Given the description of an element on the screen output the (x, y) to click on. 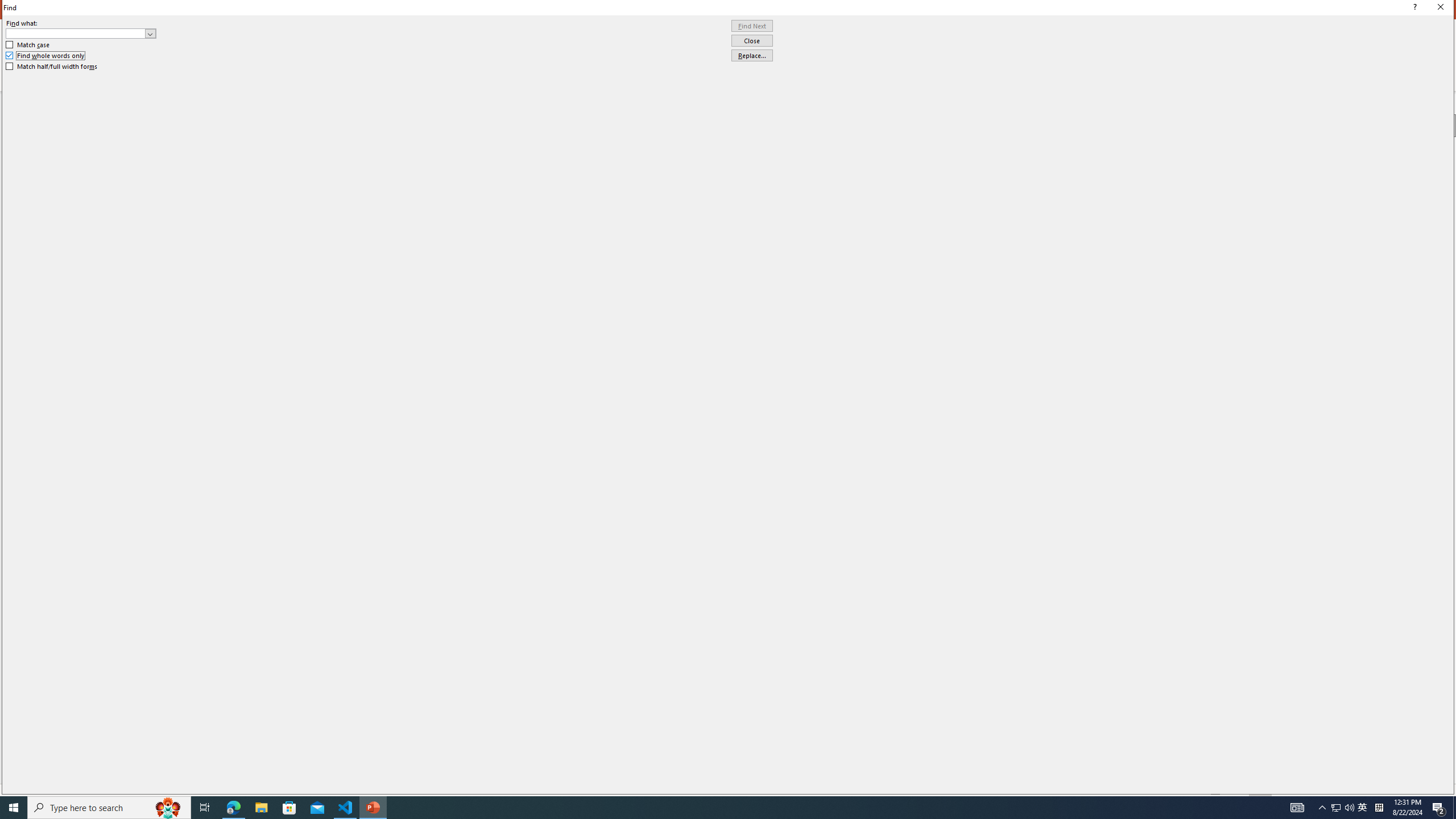
Find whole words only (45, 55)
Match case (27, 44)
Context help (1413, 8)
Find what (80, 33)
Find what (75, 33)
Match half/full width forms (52, 66)
Find Next (751, 25)
